Given the description of an element on the screen output the (x, y) to click on. 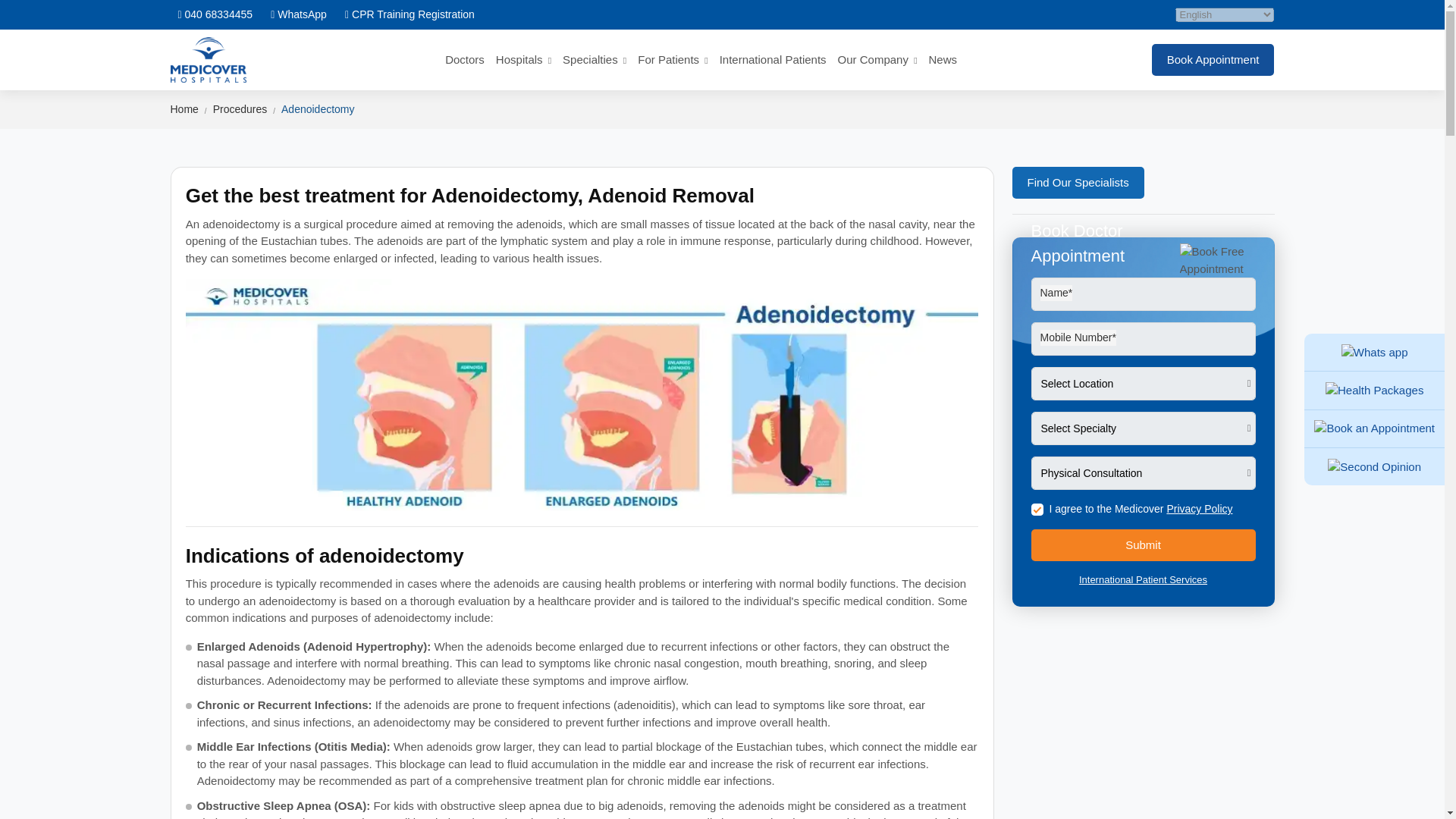
Second Opinions (1374, 466)
CPR Training Registration (409, 14)
International Patients (773, 59)
Book Appointment (1374, 428)
Health Checkup Packages (1373, 390)
Specialties (594, 59)
040 68334455 (215, 14)
Our Company (877, 59)
WhatsApp (298, 14)
For Patients (672, 59)
Whatsapp (1373, 352)
only characters are allowed (1142, 294)
Doctors (464, 59)
Hospitals (523, 59)
